Given the description of an element on the screen output the (x, y) to click on. 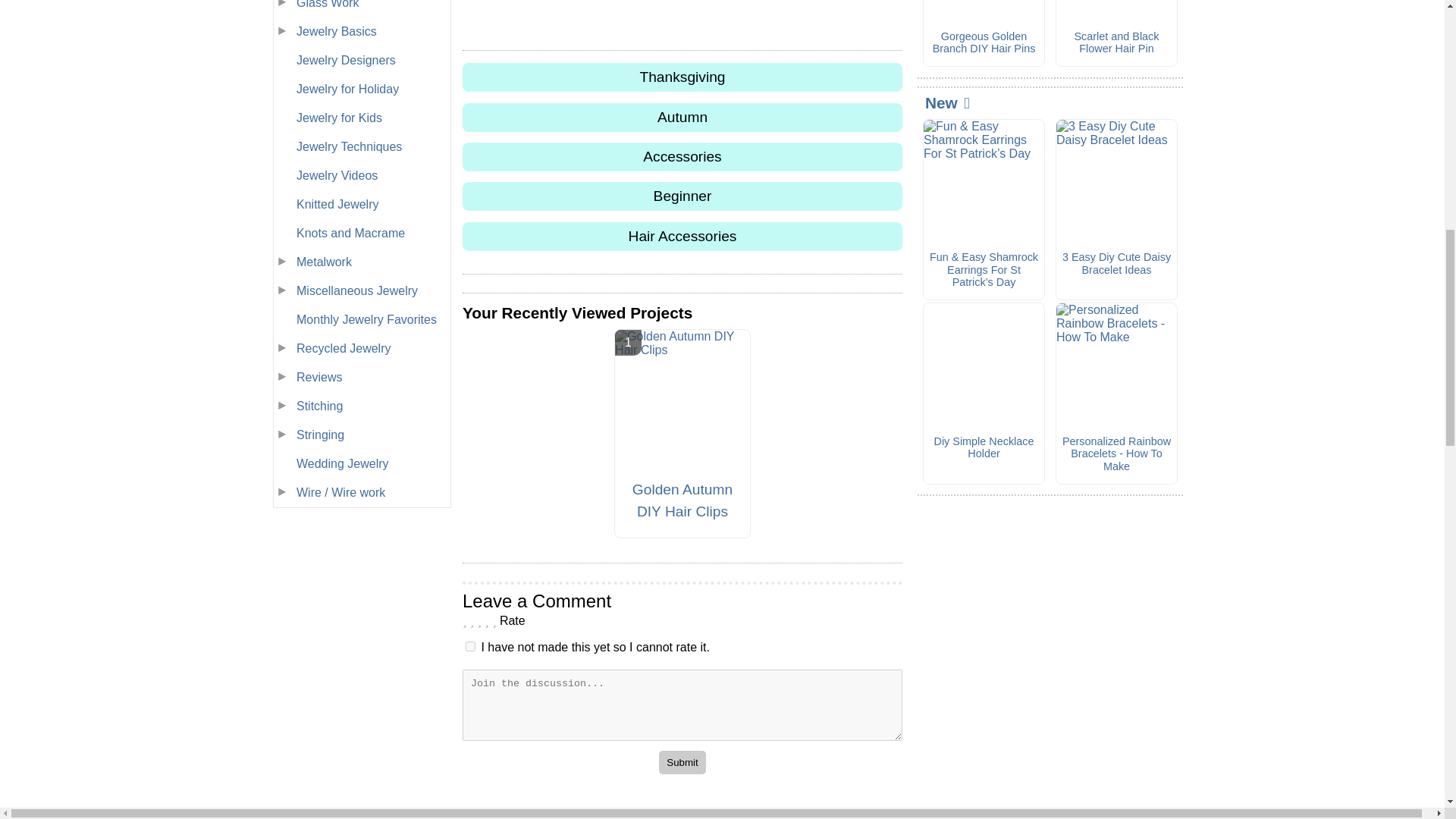
Submit (681, 762)
1 (470, 646)
